Given the description of an element on the screen output the (x, y) to click on. 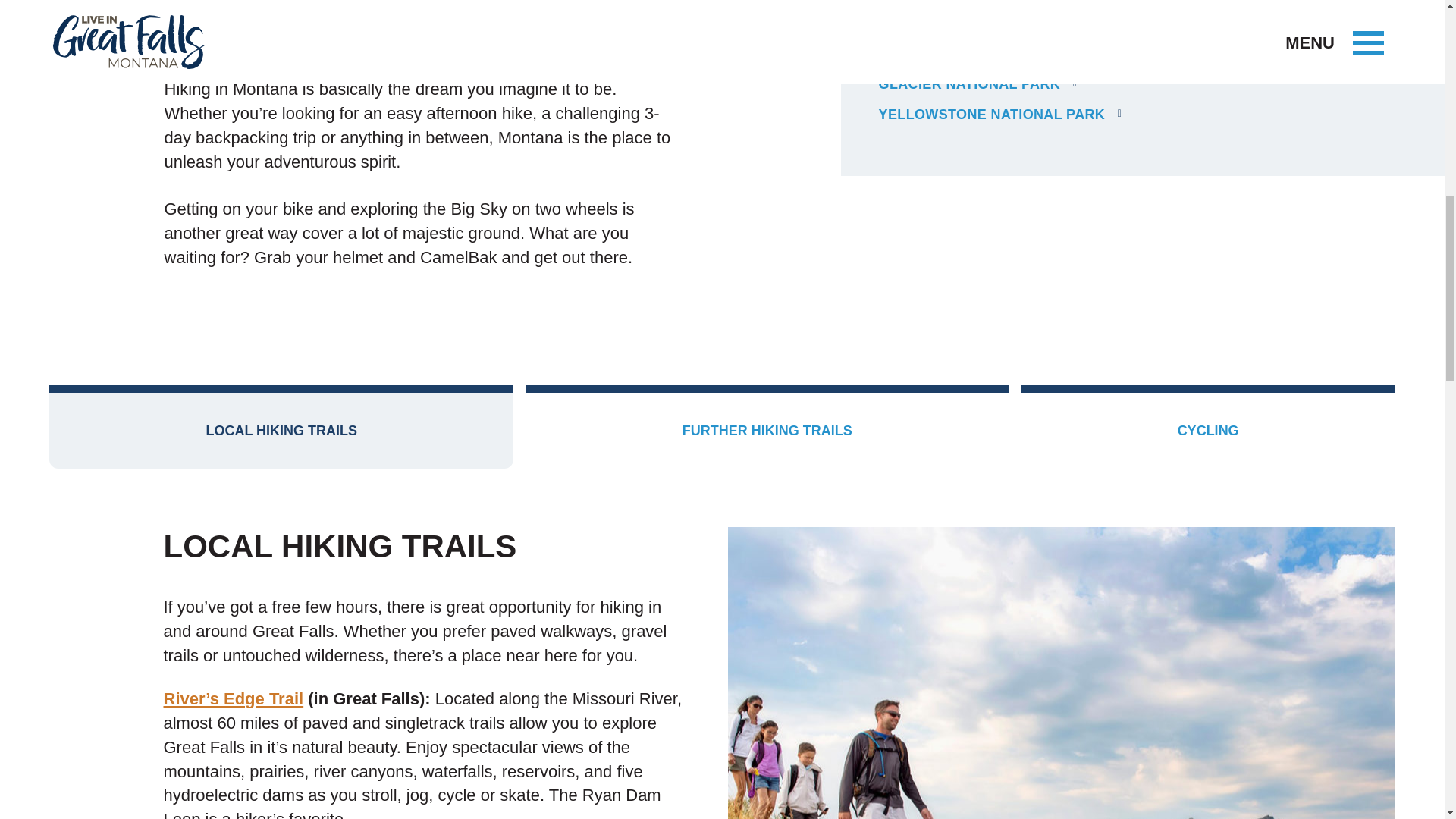
GLACIER NATIONAL PARK (978, 84)
MONTANA STATE PARKS (972, 53)
GENUINE MONTANA HIKING (983, 22)
YELLOWSTONE NATIONAL PARK (1000, 114)
